Given the description of an element on the screen output the (x, y) to click on. 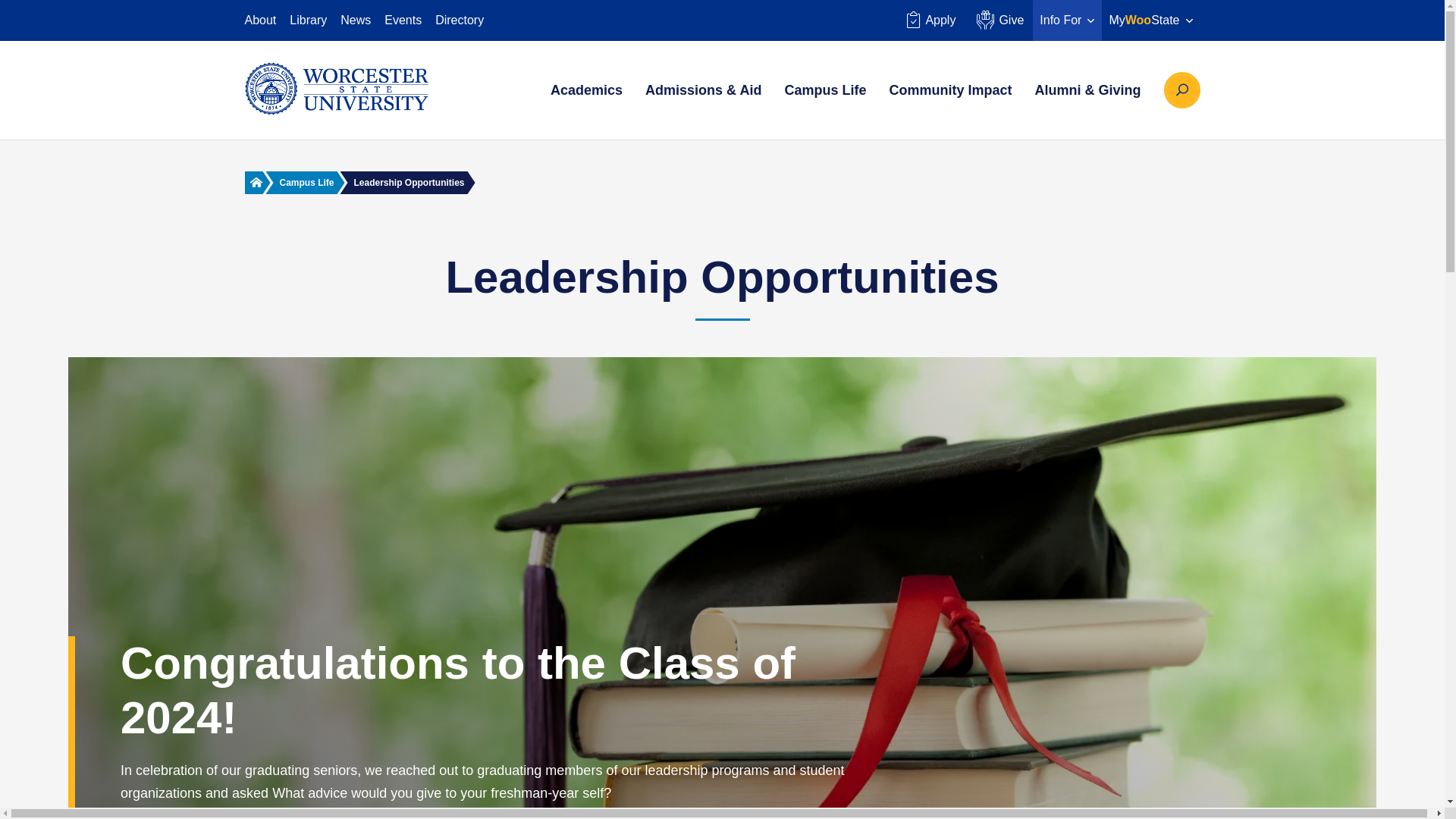
Give (997, 20)
Directory (459, 19)
About (260, 19)
Click to visit this page (303, 182)
Click to return to the Home page (255, 182)
Events (403, 19)
News (355, 19)
Library (307, 19)
Info For (1067, 20)
Apply (929, 20)
